Given the description of an element on the screen output the (x, y) to click on. 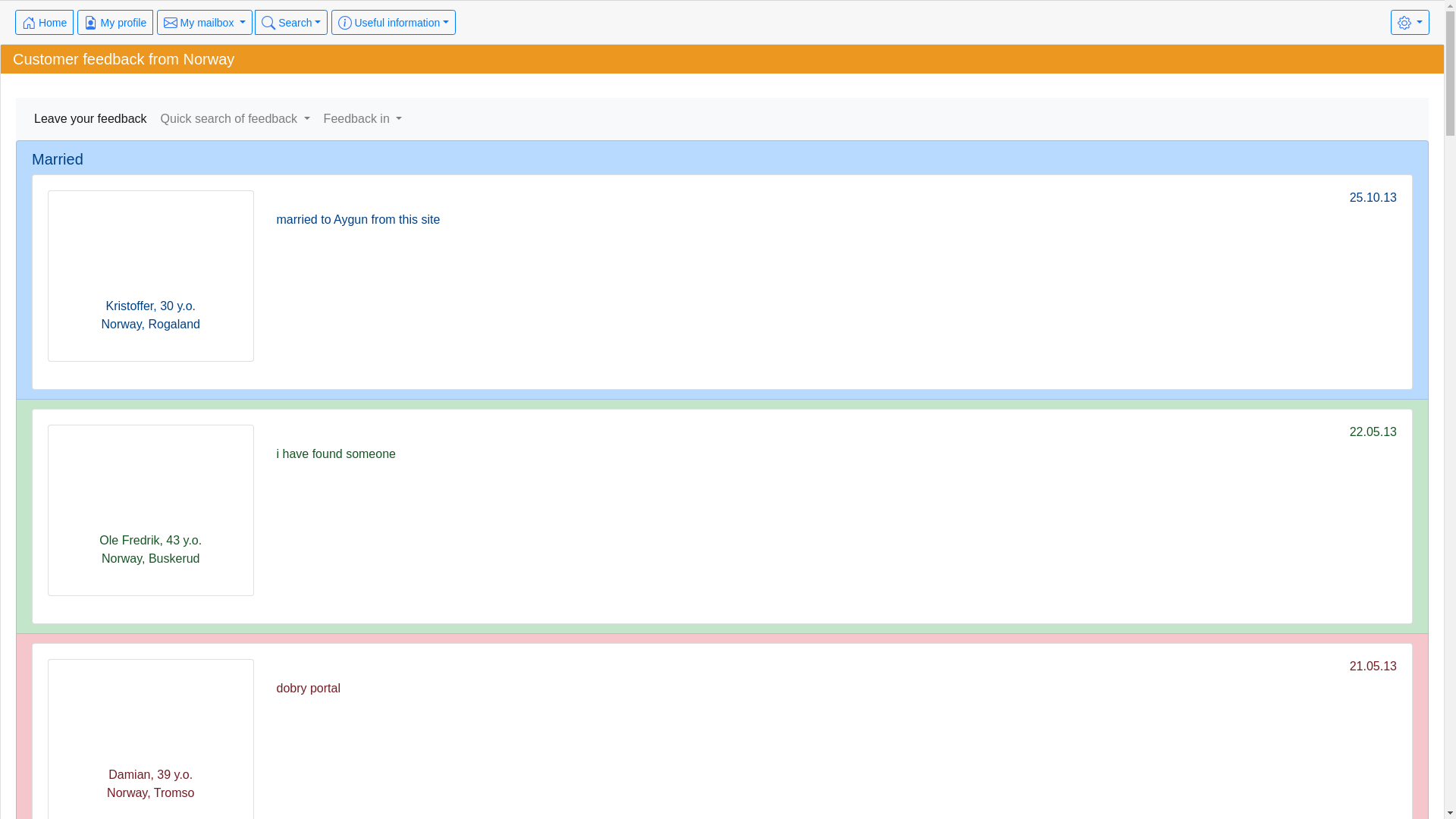
Useful information Element type: text (393, 21)
Quick search of feedback Element type: text (235, 118)
Feedback in Element type: text (362, 118)
Leave your feedback Element type: text (90, 118)
My mailbox Element type: text (204, 21)
Home Element type: text (44, 21)
My profile Element type: text (115, 21)
Search Element type: text (290, 21)
